Given the description of an element on the screen output the (x, y) to click on. 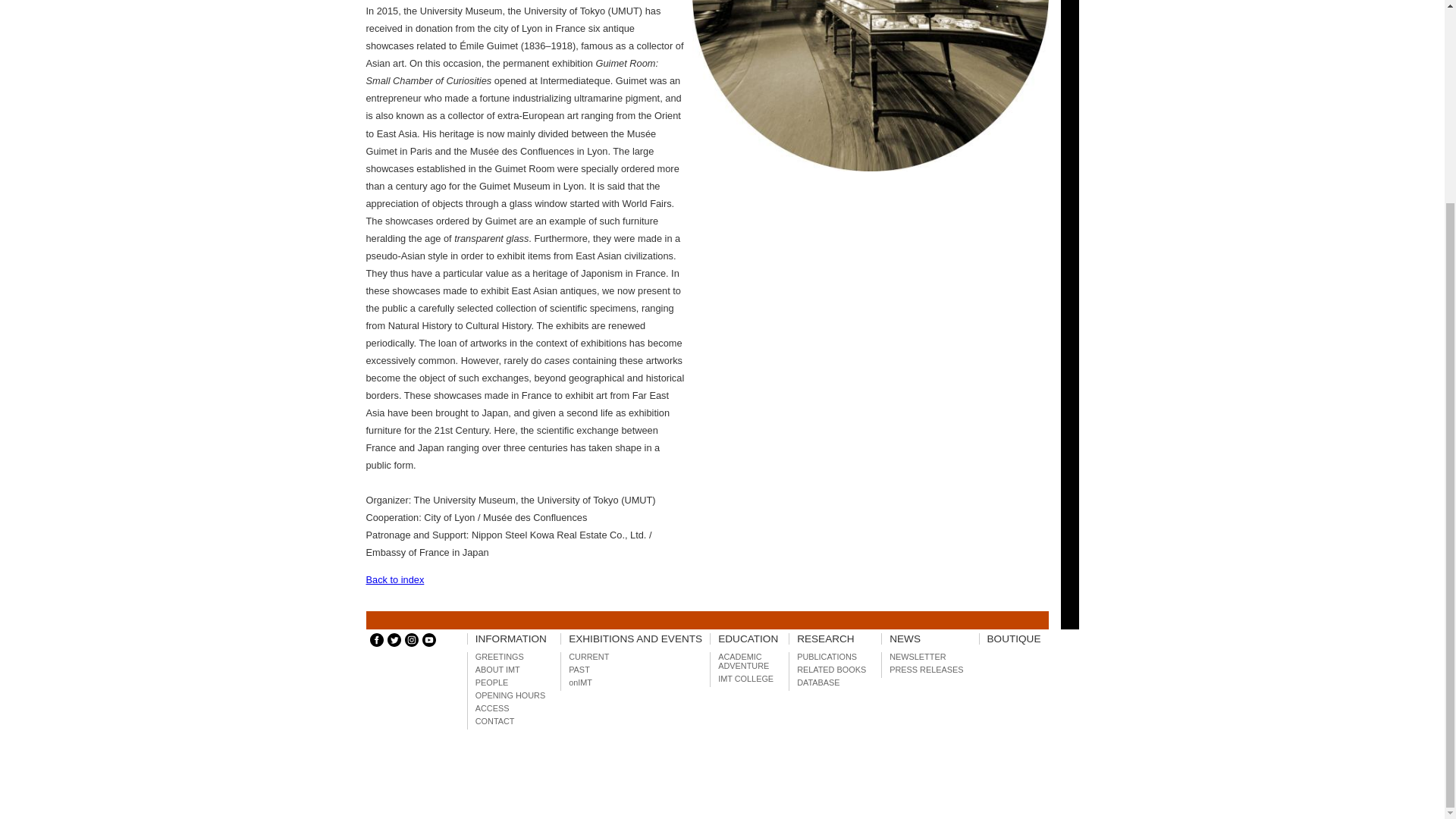
INFORMATION (510, 638)
EXHIBITIONS AND EVENTS (635, 638)
CURRENT (588, 655)
NEWSLETTER (916, 655)
CONTACT (495, 720)
PRESS RELEASES (925, 669)
ACCESS (492, 707)
PAST (579, 669)
RESEARCH (825, 638)
OPENING HOURS (510, 695)
BOUTIQUE (1013, 638)
onIMT (580, 682)
IMT COLLEGE (745, 678)
PEOPLE (492, 682)
